Given the description of an element on the screen output the (x, y) to click on. 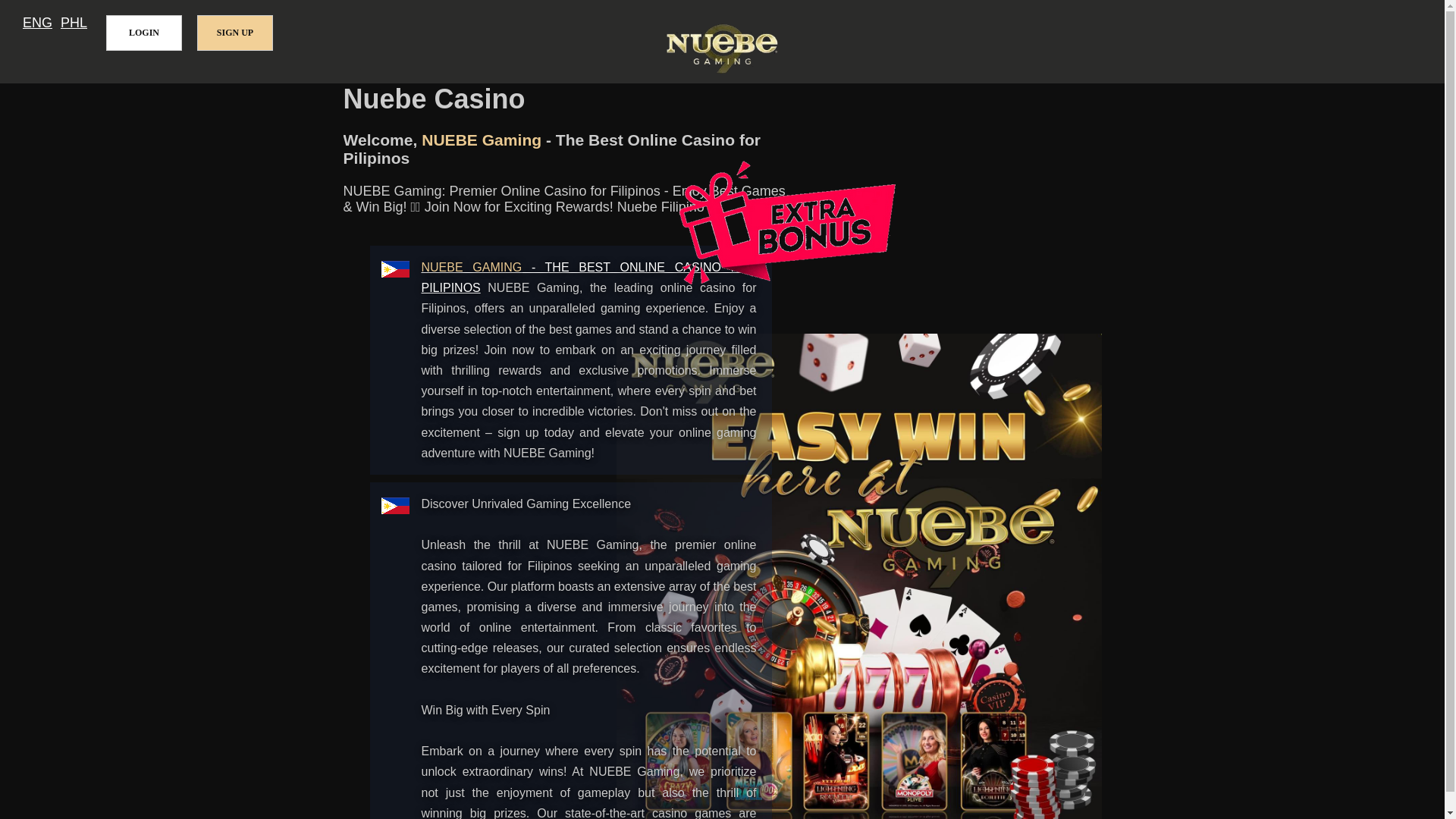
NUEBE Gaming - The Best Online Casino for Pilipinos Logo (721, 49)
PHL (74, 23)
LOGIN (144, 32)
NUEBE GAMING - THE BEST ONLINE CASINO FOR PILIPINOS (589, 277)
English (37, 23)
SIGN UP (234, 32)
NUEBE Gaming - The Best Online Casino for Pilipinos (589, 277)
Filipino (74, 23)
ENG (37, 23)
